Given the description of an element on the screen output the (x, y) to click on. 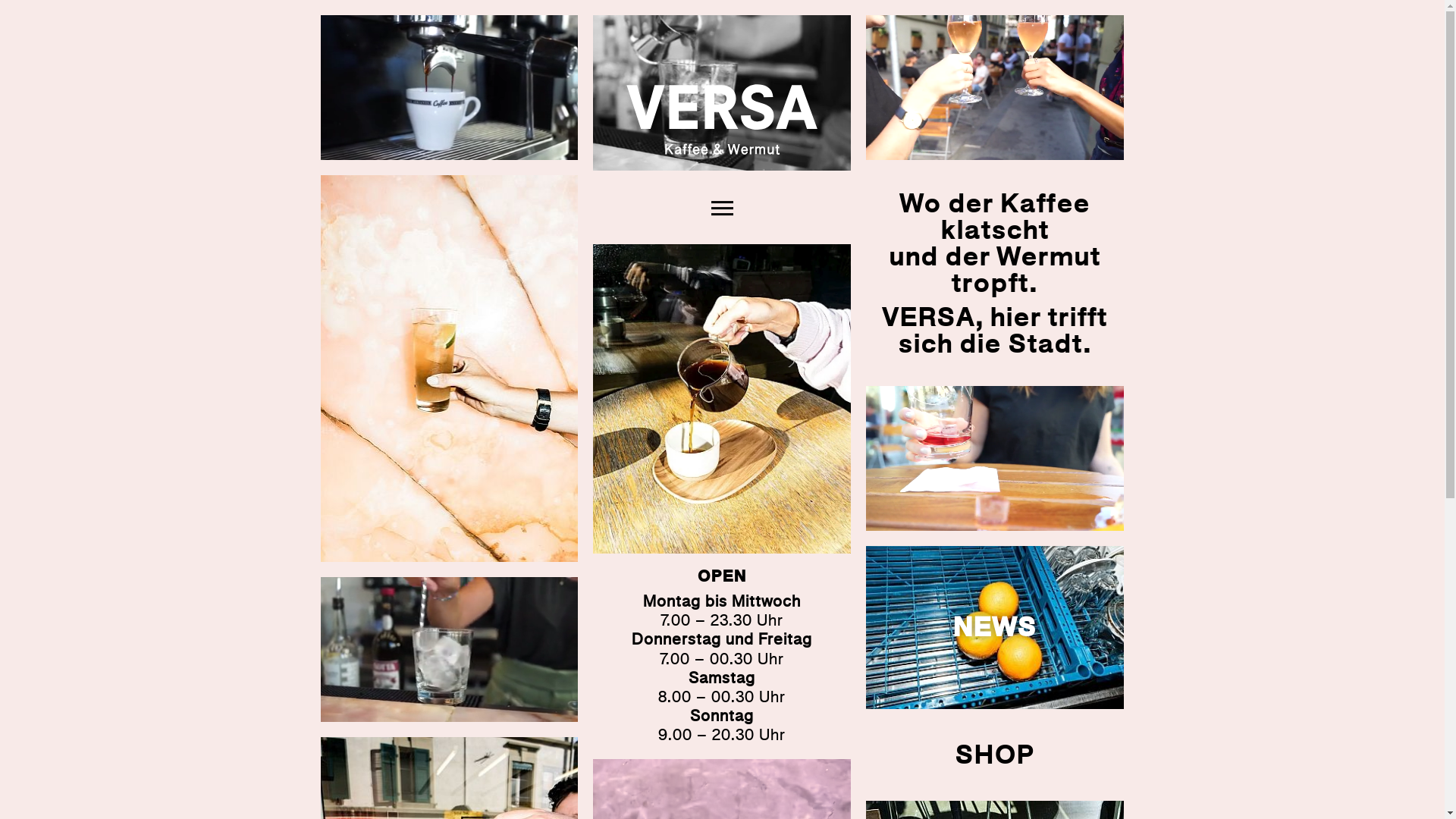
kaffee-auslaufen-small Element type: hover (448, 87)
negroni-ausleeren-small Element type: hover (994, 457)
versa-kaffee-wermut-bar-bern-limetten-schorle Element type: hover (448, 368)
versa-bar-bern-filterkaffee Element type: hover (721, 398)
ruehren-eis-small Element type: hover (448, 649)
wermut-einschenken-small Element type: hover (721, 119)
schaumwein-cheers-small Element type: hover (994, 87)
SHOP Element type: text (994, 754)
